Given the description of an element on the screen output the (x, y) to click on. 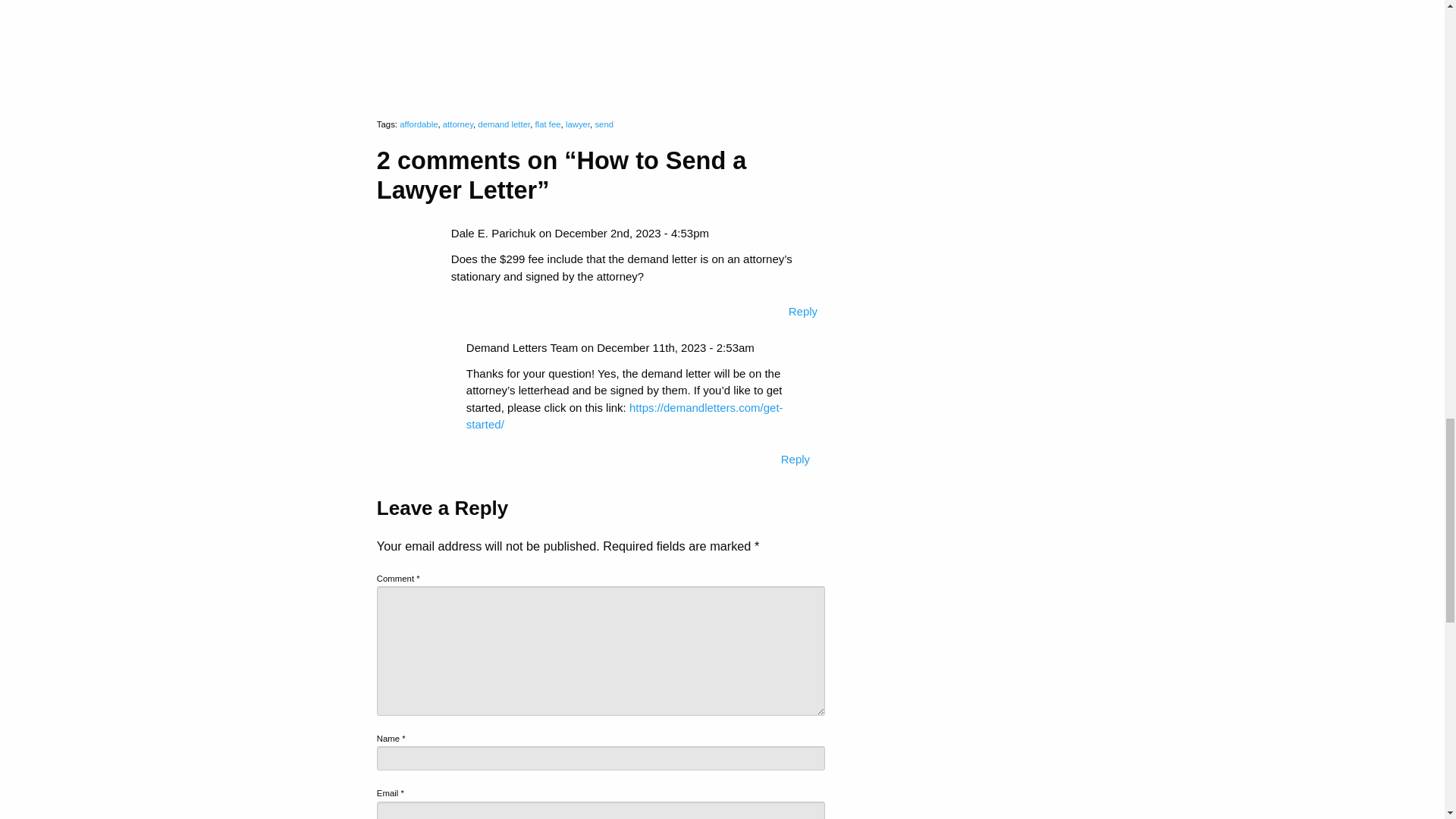
Dale E. Parichuk (493, 232)
flat fee (547, 123)
demand letter (503, 123)
December 2nd, 2023 - 4:53pm (631, 232)
attorney (457, 123)
send (603, 123)
Reply (794, 459)
lawyer (577, 123)
Demand Letters Team (521, 347)
Reply (802, 311)
